Given the description of an element on the screen output the (x, y) to click on. 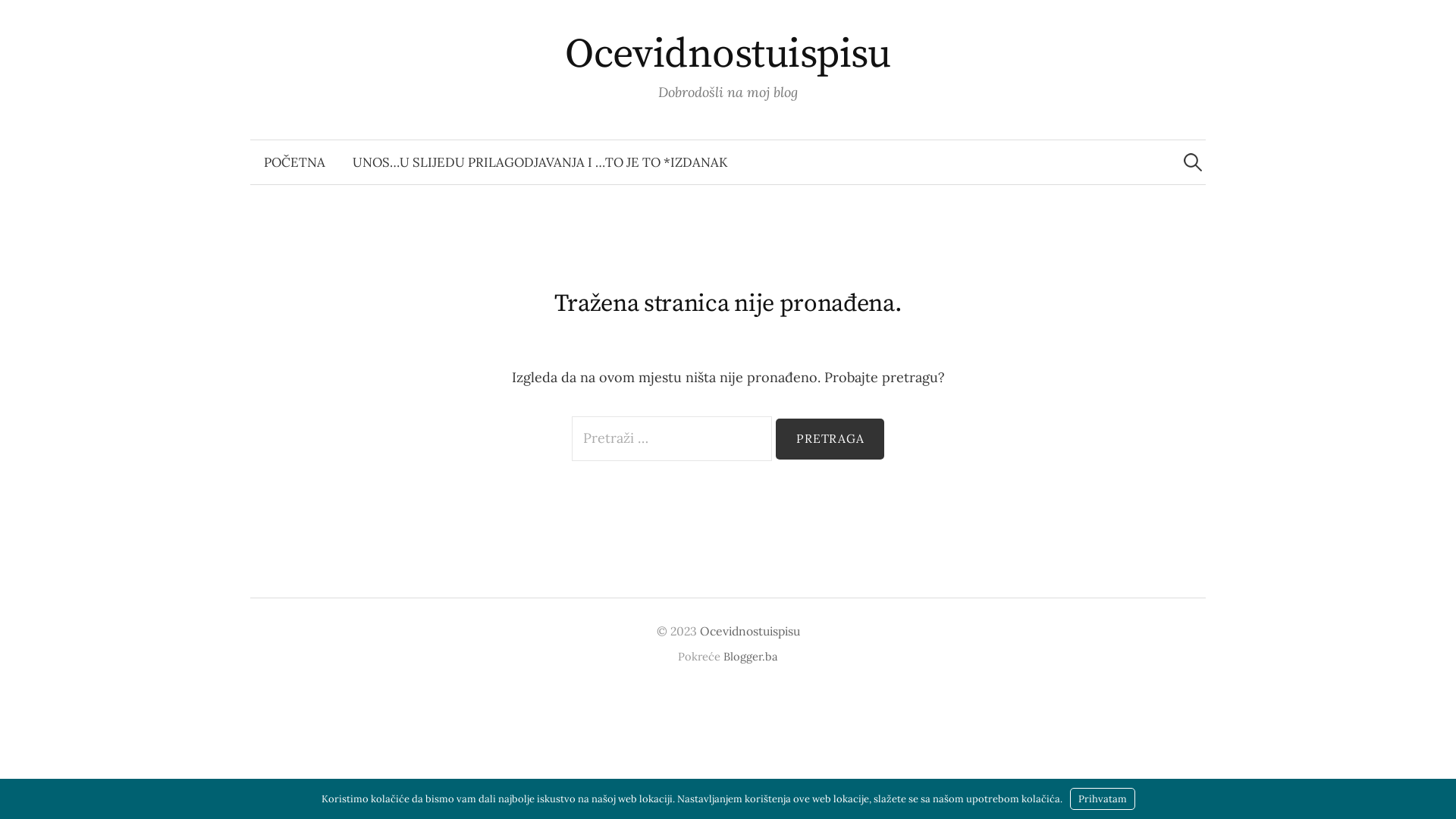
Prihvatam Element type: text (1101, 798)
Ocevidnostuispisu Element type: text (727, 54)
Blogger.ba Element type: text (750, 656)
Pretraga Element type: text (829, 438)
Ocevidnostuispisu Element type: text (749, 630)
Pretraga Element type: text (18, 18)
